Given the description of an element on the screen output the (x, y) to click on. 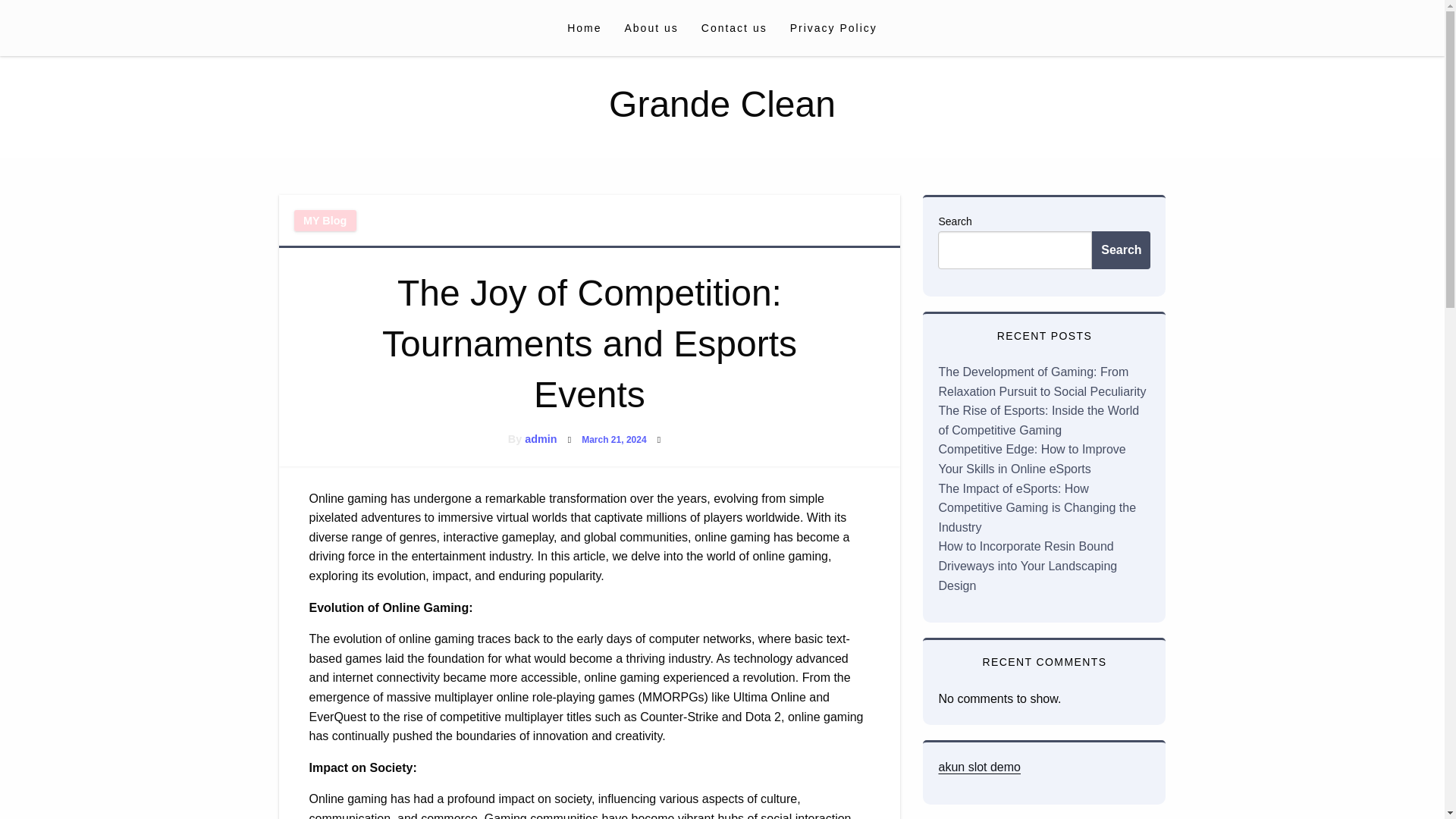
Privacy Policy (833, 27)
admin (540, 439)
Home (584, 27)
March 21, 2024 (613, 439)
About us (650, 27)
akun slot demo (978, 766)
Grande Clean (721, 104)
MY Blog (325, 219)
Contact us (734, 27)
The Rise of Esports: Inside the World of Competitive Gaming (1037, 420)
admin (540, 439)
